Given the description of an element on the screen output the (x, y) to click on. 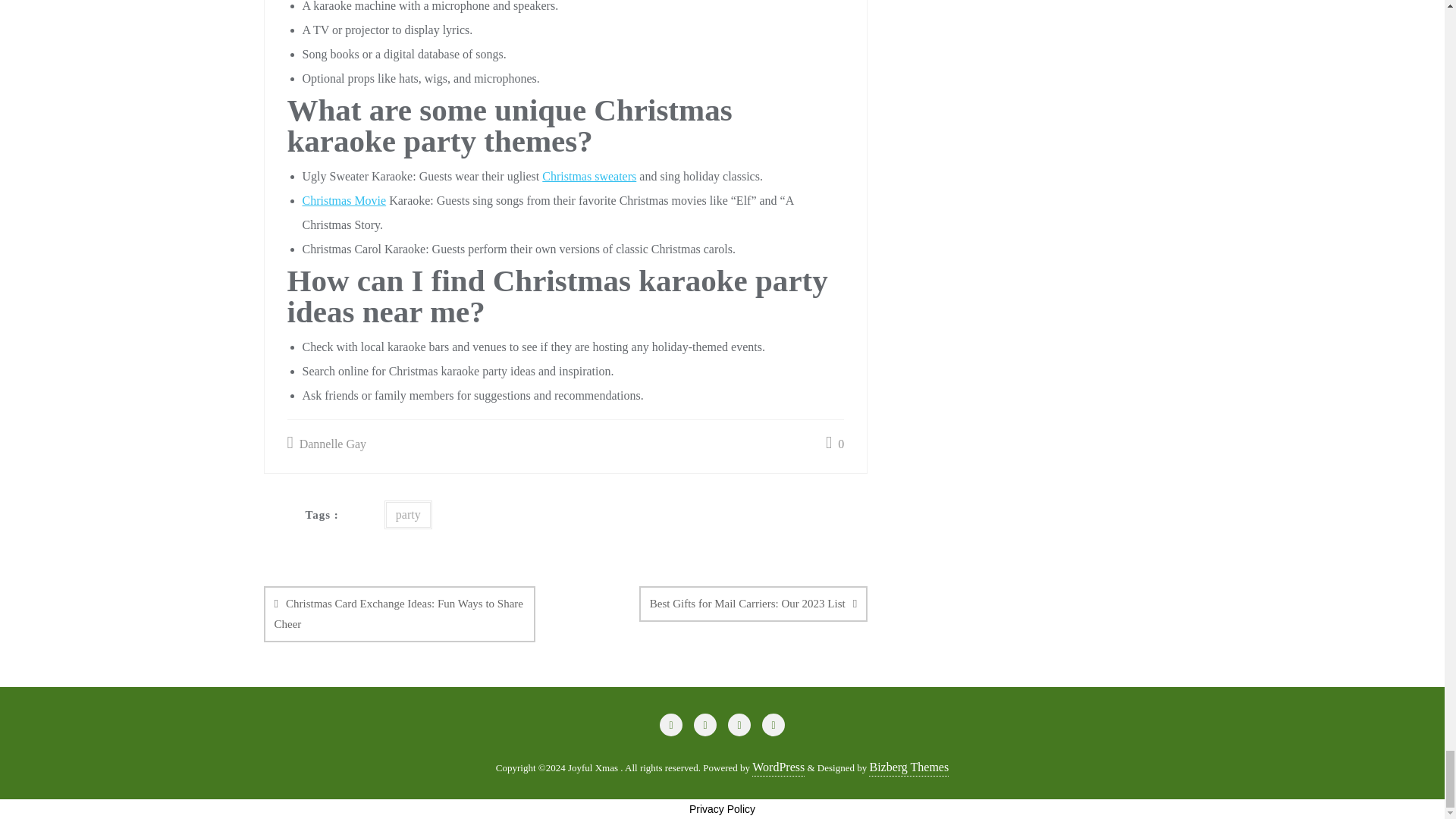
Christmas Card Exchange Ideas: Fun Ways to Share Cheer (399, 614)
Dannelle Gay (326, 444)
Christmas Movie (343, 200)
party (408, 514)
Best Gifts for Mail Carriers: Our 2023 List (753, 603)
Christmas sweaters (588, 175)
